Given the description of an element on the screen output the (x, y) to click on. 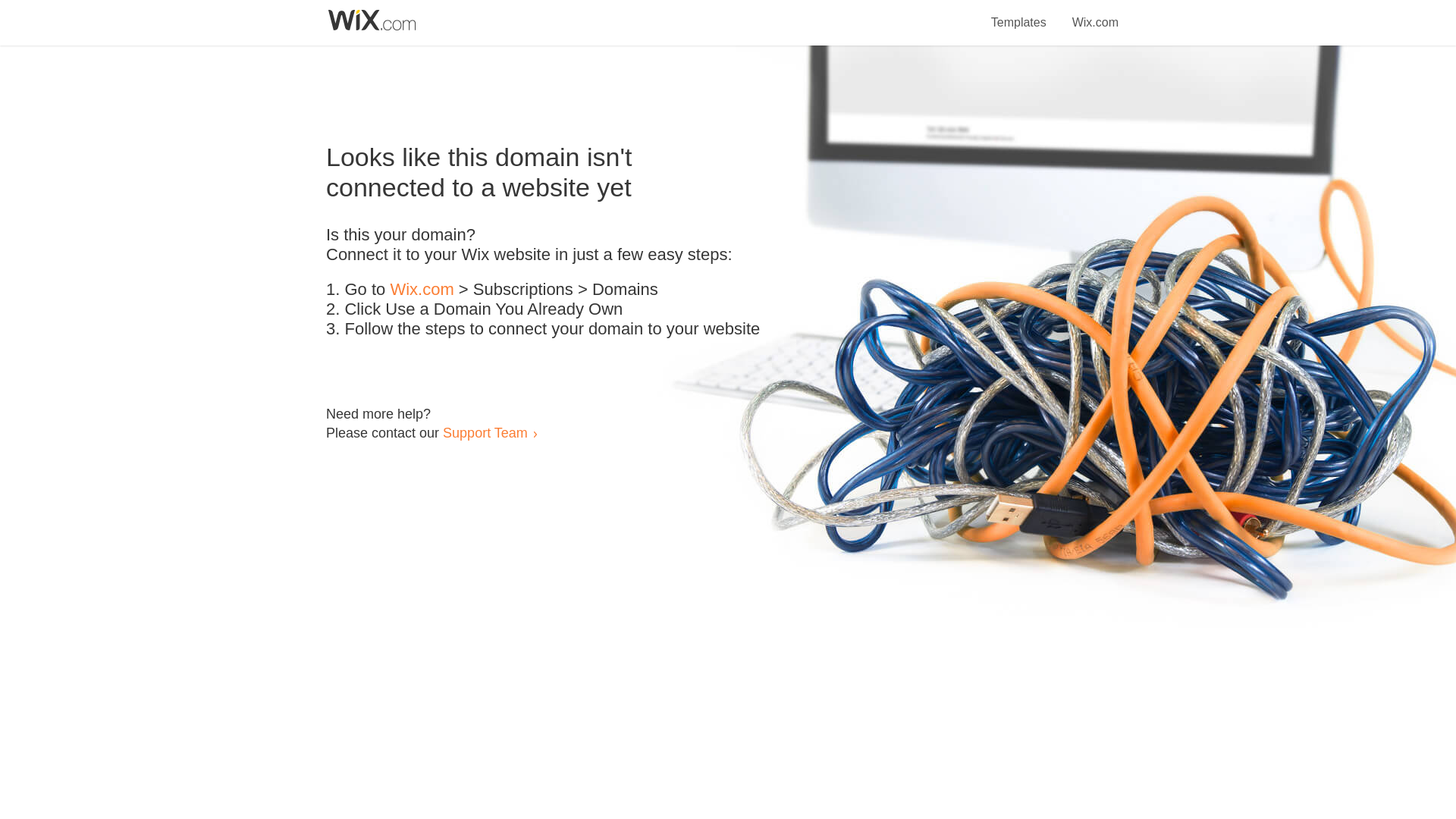
Templates (1018, 14)
Support Team (484, 432)
Wix.com (421, 289)
Wix.com (1095, 14)
